Given the description of an element on the screen output the (x, y) to click on. 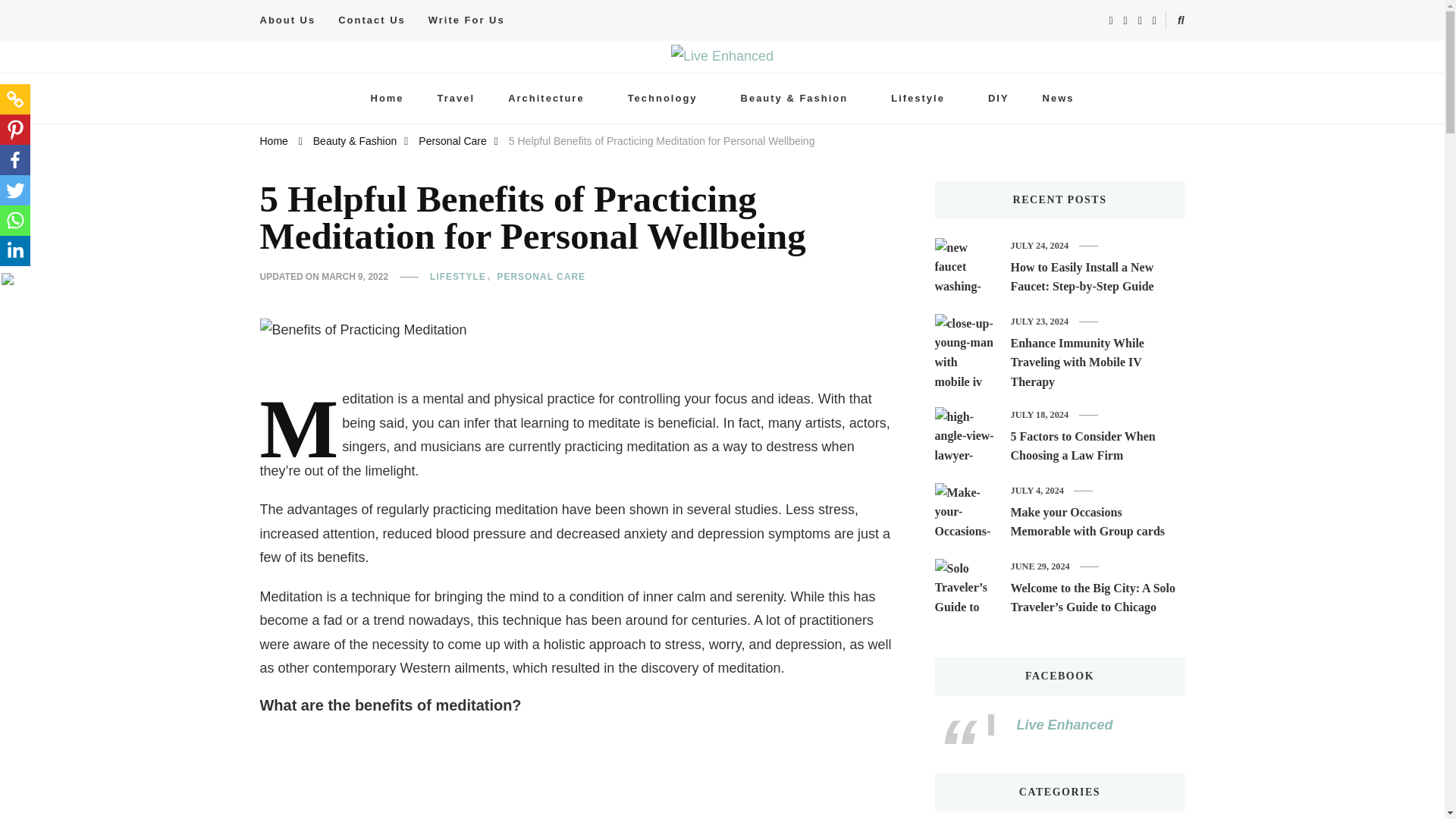
Technology (667, 97)
Travel (456, 97)
Architecture (551, 97)
Pinterest (15, 129)
Live Enhanced (332, 86)
Contact Us (371, 20)
Search (1154, 22)
Whatsapp (15, 220)
Facebook (15, 159)
Lifestyle (923, 97)
Linkedin (15, 250)
About Us (292, 20)
Write For Us (466, 20)
Twitter (15, 190)
Home (386, 97)
